Given the description of an element on the screen output the (x, y) to click on. 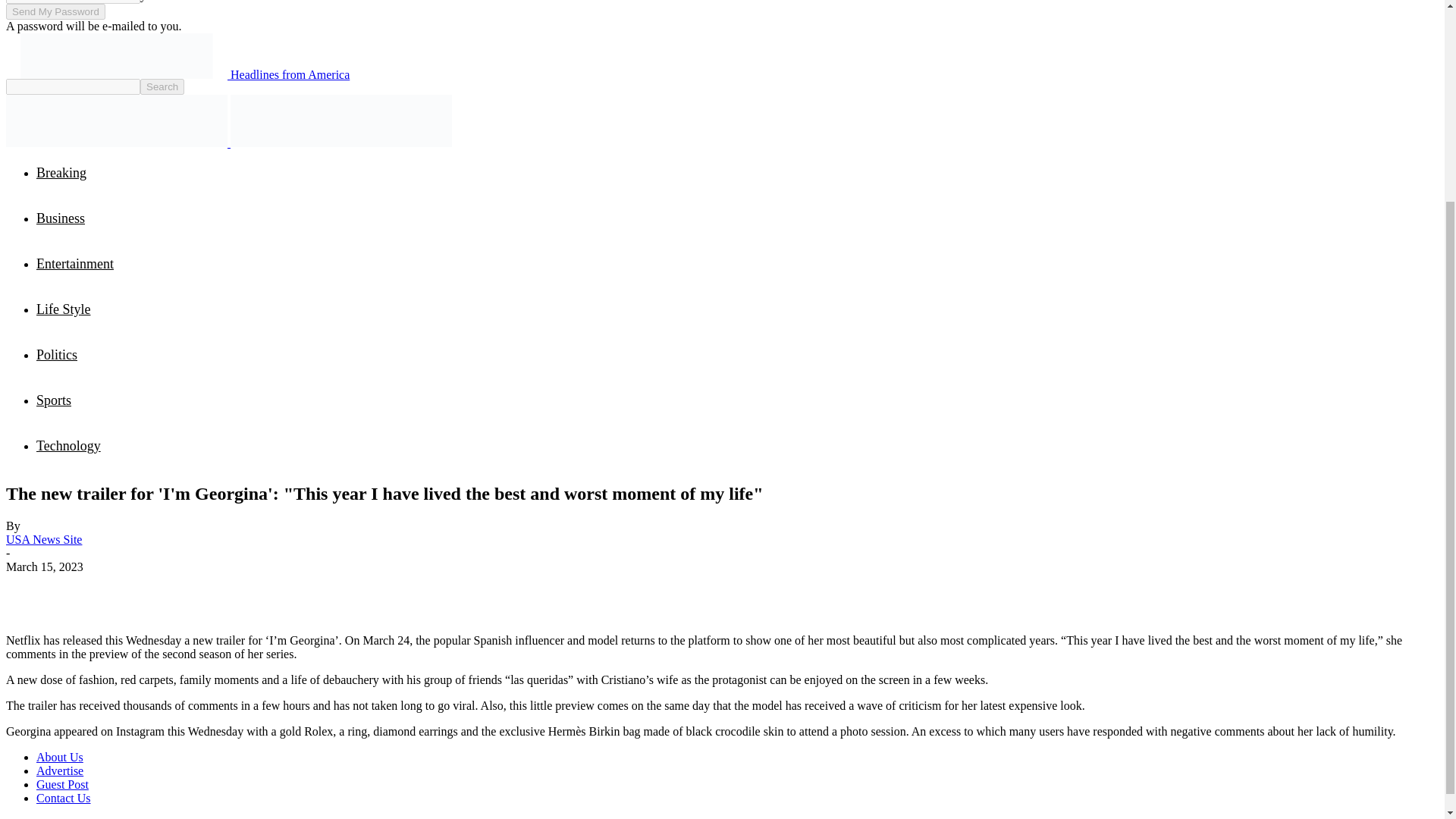
Send My Password (54, 11)
USANews.net - Covering the Heartbeat of America (340, 121)
Guest Post (62, 784)
Search (161, 86)
Advertise (59, 770)
Search (161, 86)
Business (60, 218)
Entertainment (74, 263)
Sports (53, 400)
Politics (56, 354)
